Given the description of an element on the screen output the (x, y) to click on. 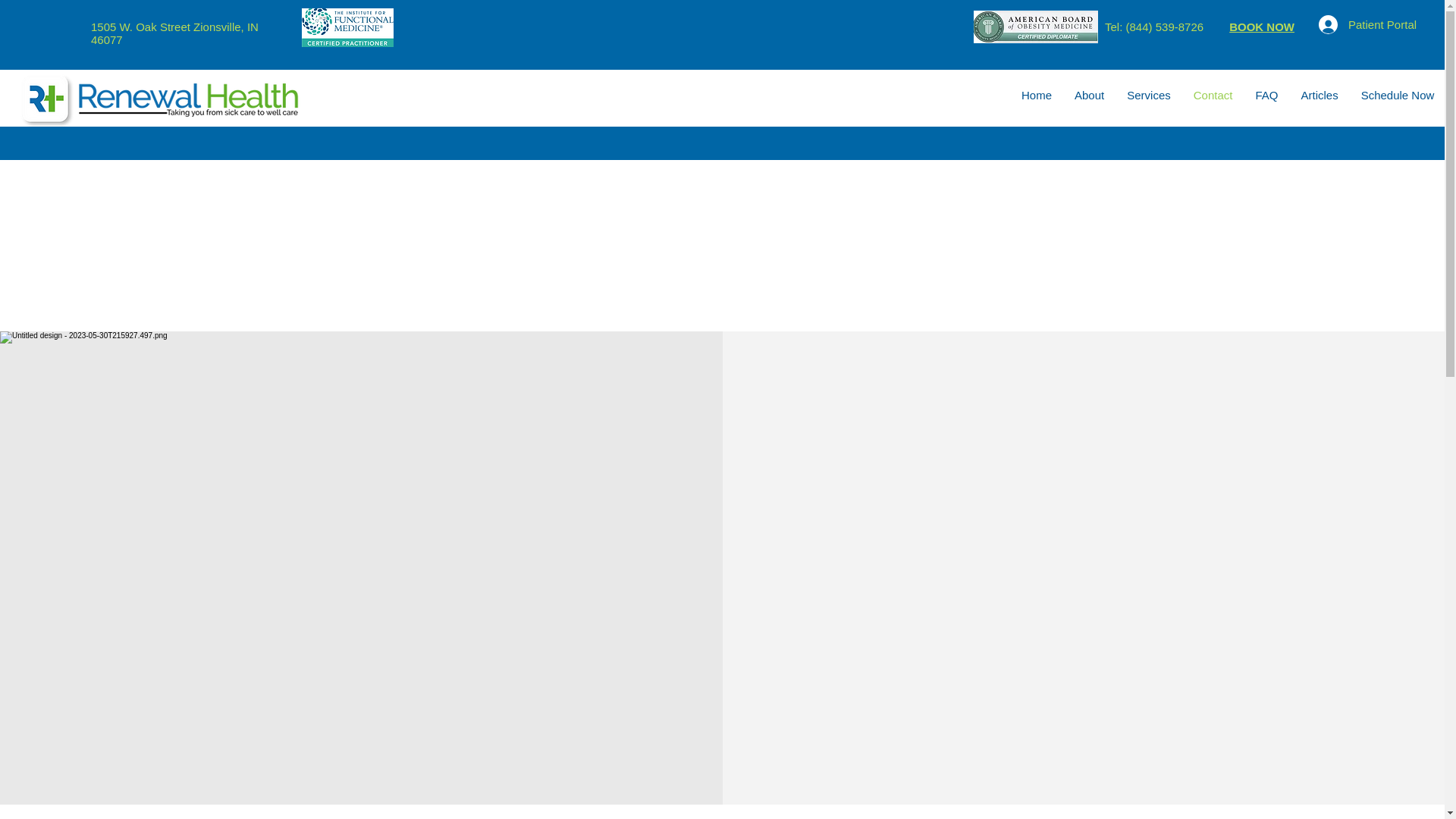
About (1088, 97)
Contact (1213, 97)
Articles (1318, 97)
FAQ (1265, 97)
Home (1036, 97)
Services (1148, 97)
BOOK NOW (1261, 26)
Patient Portal (1340, 24)
